Given the description of an element on the screen output the (x, y) to click on. 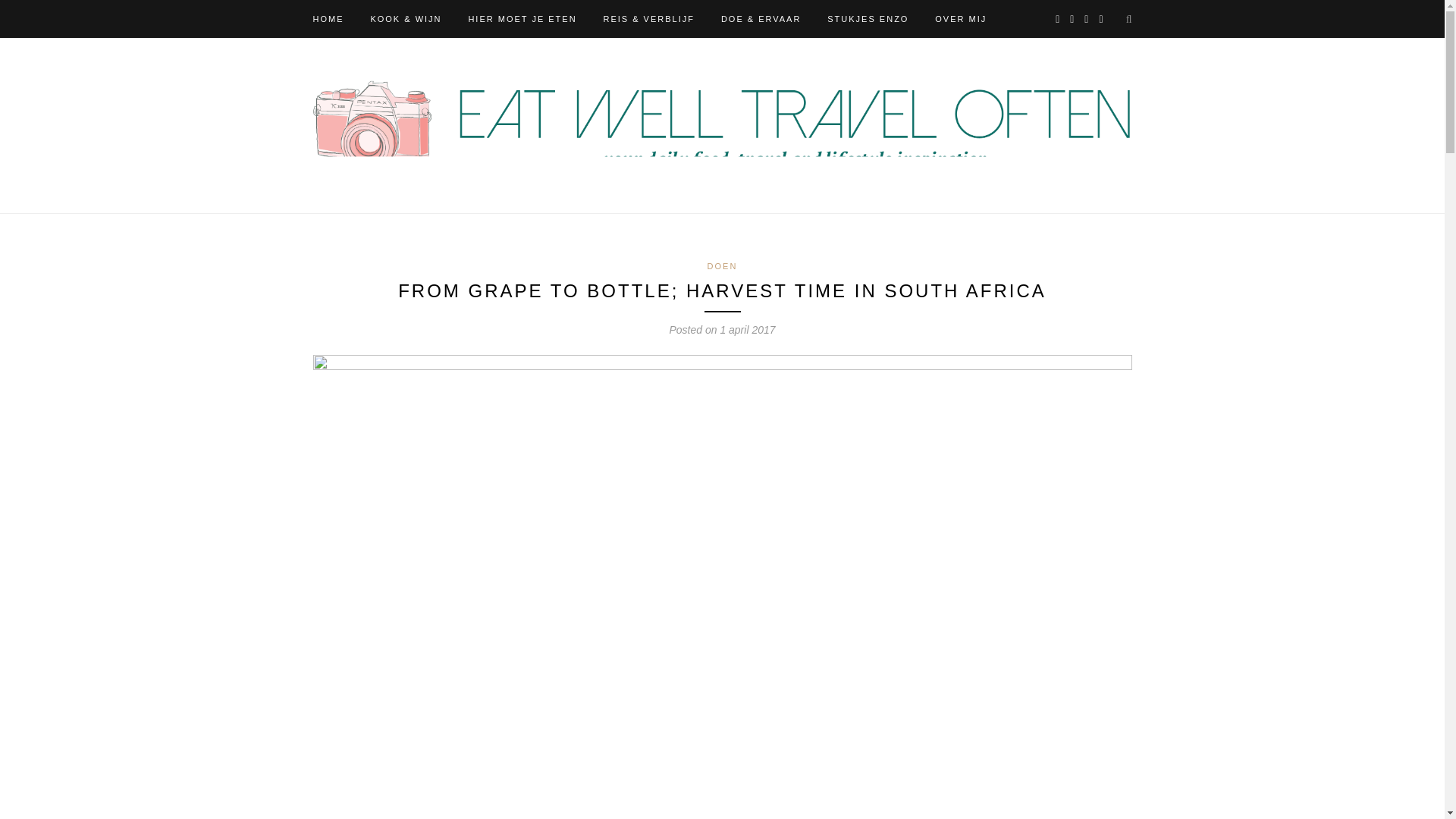
OVER MIJ (960, 18)
STUKJES ENZO (867, 18)
DOEN (722, 266)
HIER MOET JE ETEN (521, 18)
